Given the description of an element on the screen output the (x, y) to click on. 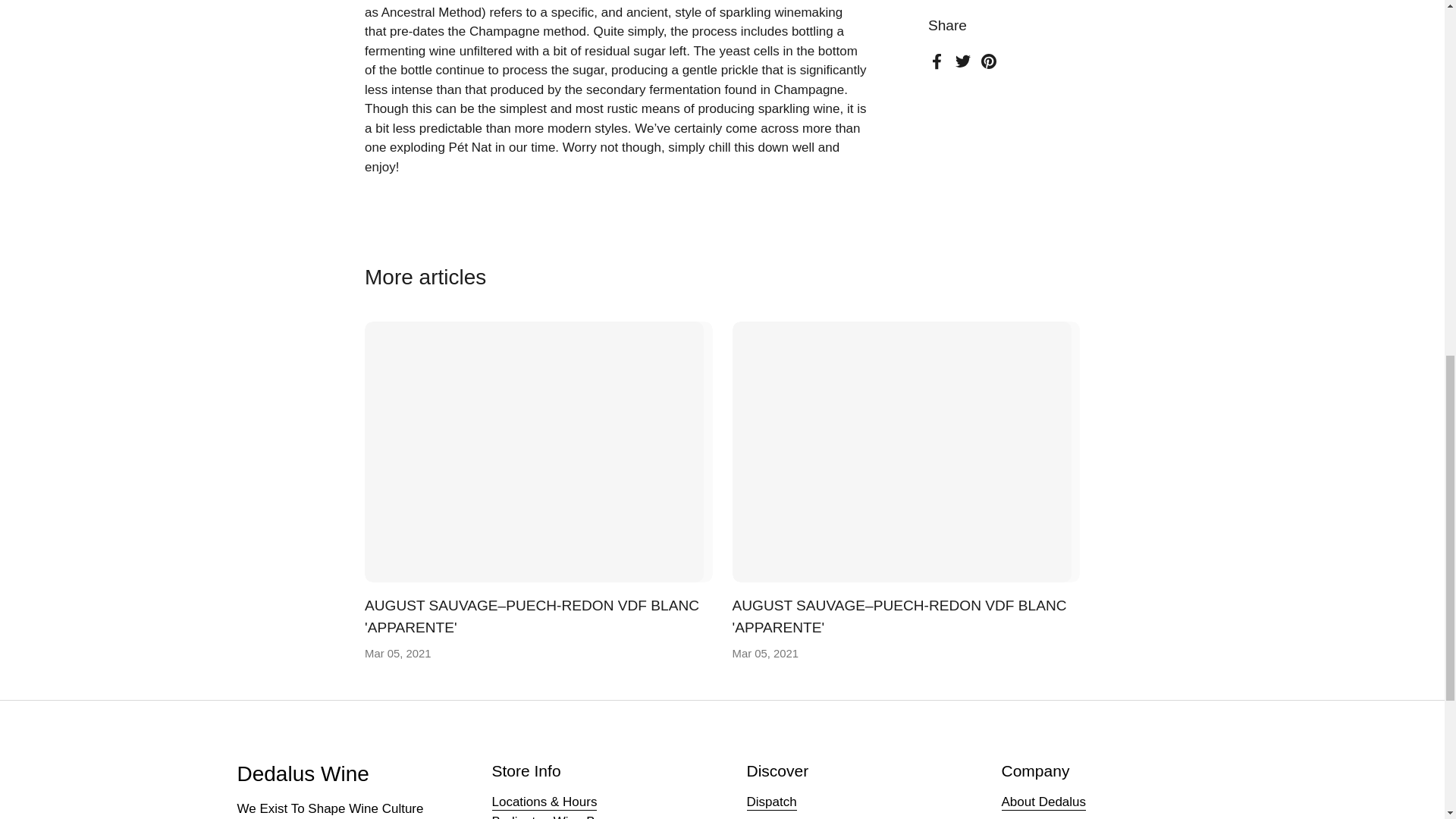
Dedalus Locations (544, 802)
